Given the description of an element on the screen output the (x, y) to click on. 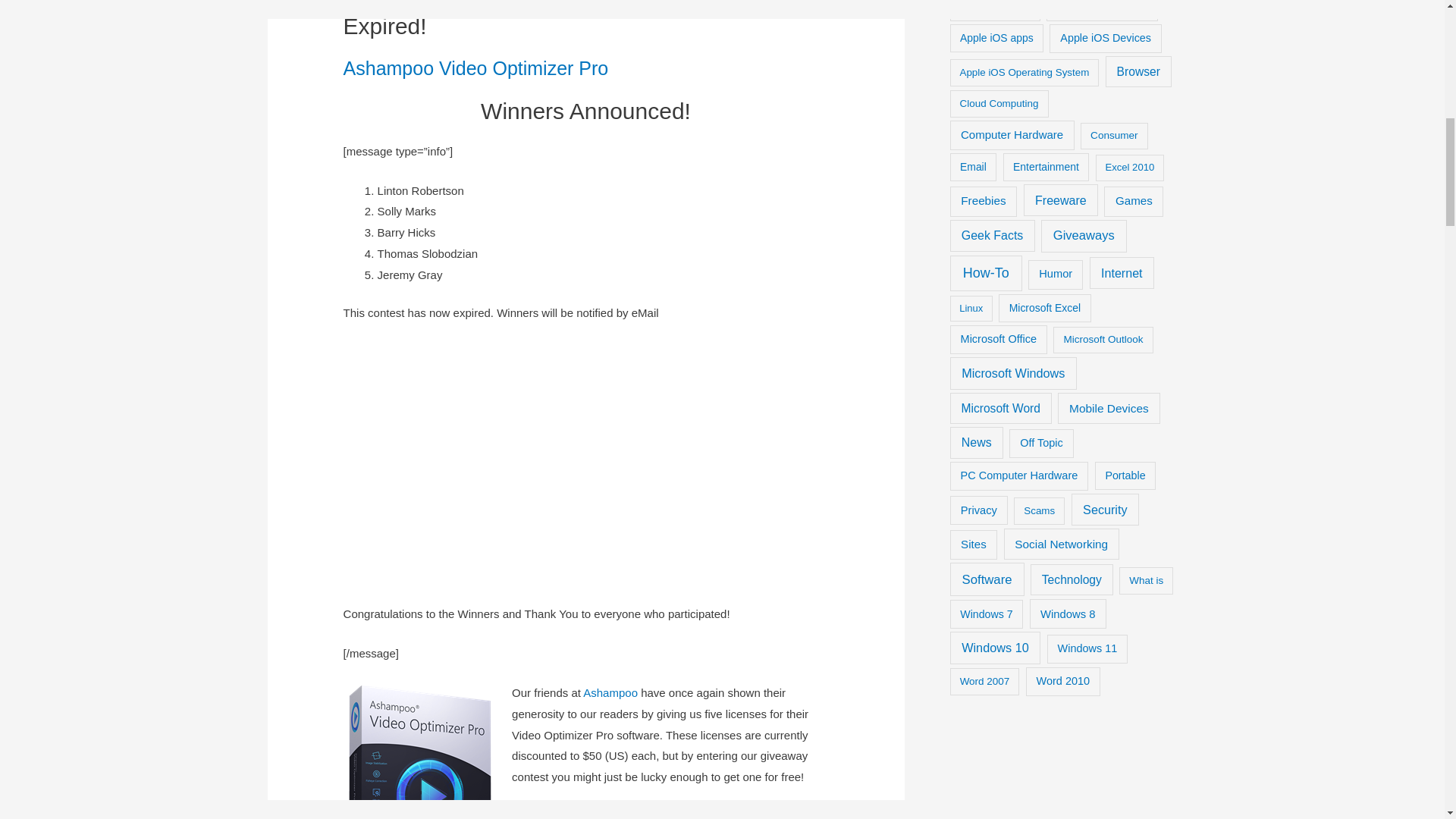
3rd party ad content (585, 463)
